Given the description of an element on the screen output the (x, y) to click on. 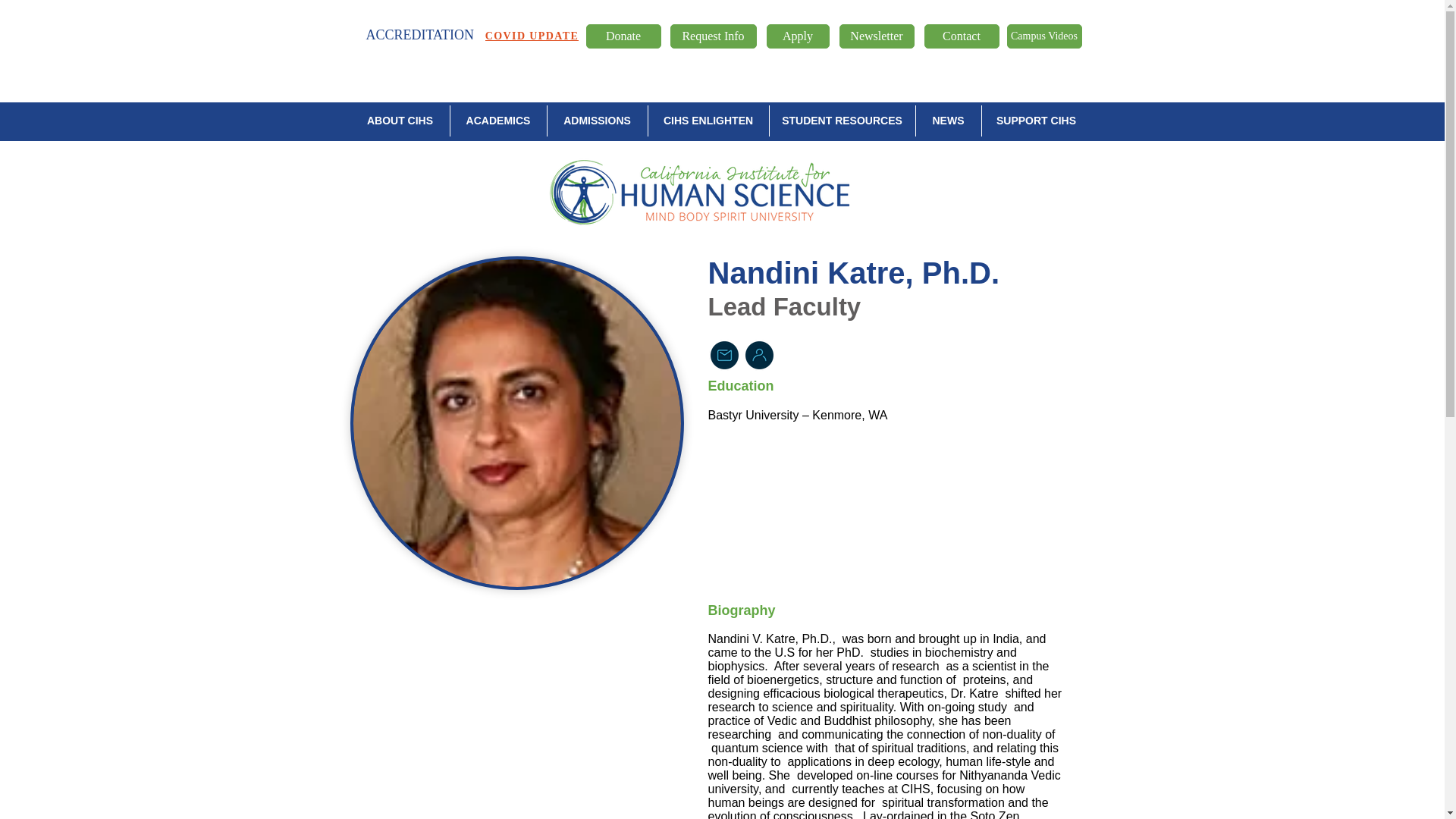
ACADEMICS (497, 120)
COVID UPDATE (531, 36)
Campus Videos (1044, 36)
ADMISSIONS (596, 120)
Newsletter (876, 36)
ACCREDITATION (419, 34)
CIHS ENLIGHTEN (707, 120)
Request Info (713, 36)
Apply (796, 36)
CIHS Official Logo.jpg (702, 190)
Contact (960, 36)
Donate (623, 36)
ABOUT CIHS (399, 120)
